Given the description of an element on the screen output the (x, y) to click on. 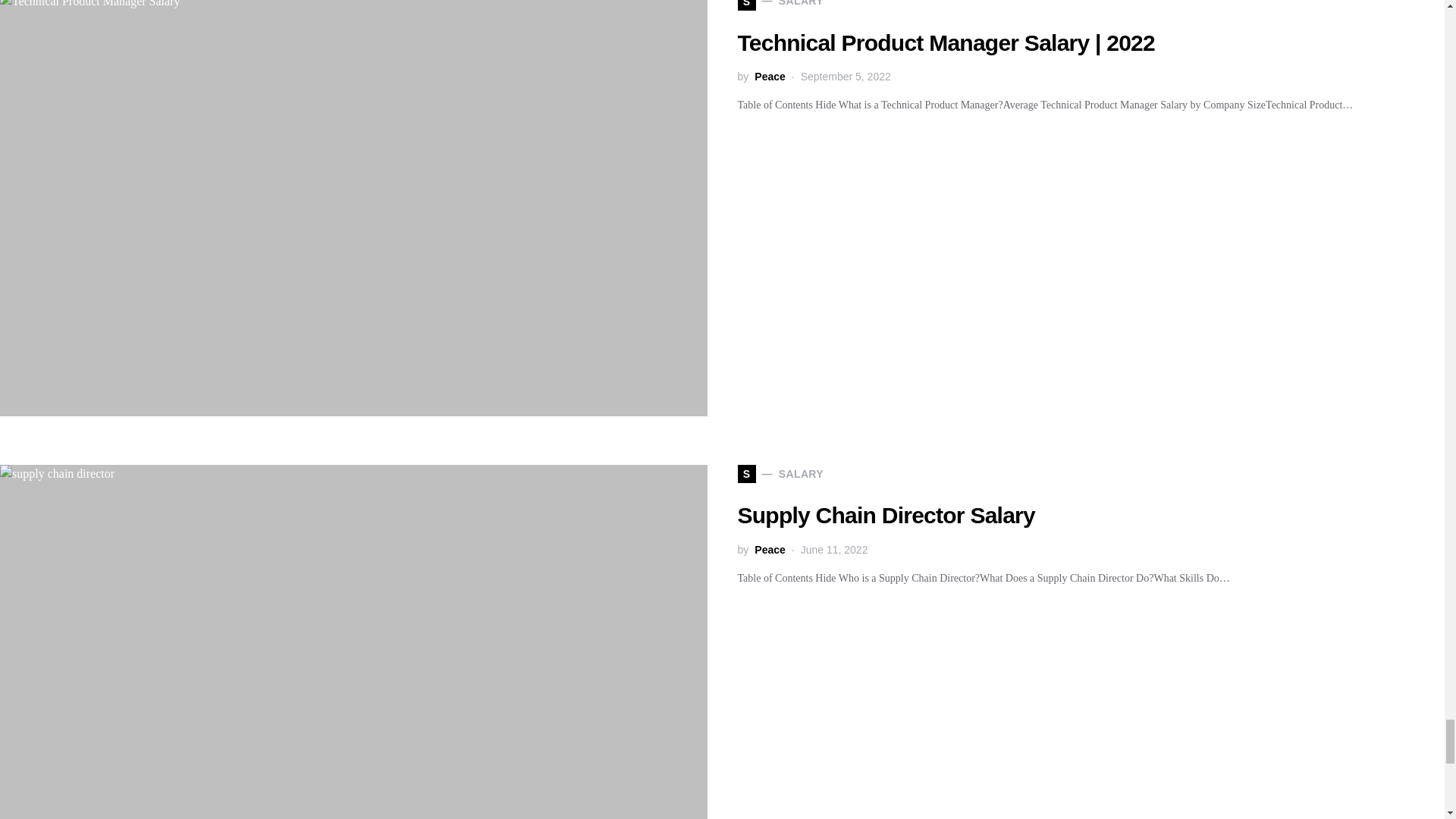
View all posts by Peace (769, 76)
View all posts by Peace (769, 549)
